Given the description of an element on the screen output the (x, y) to click on. 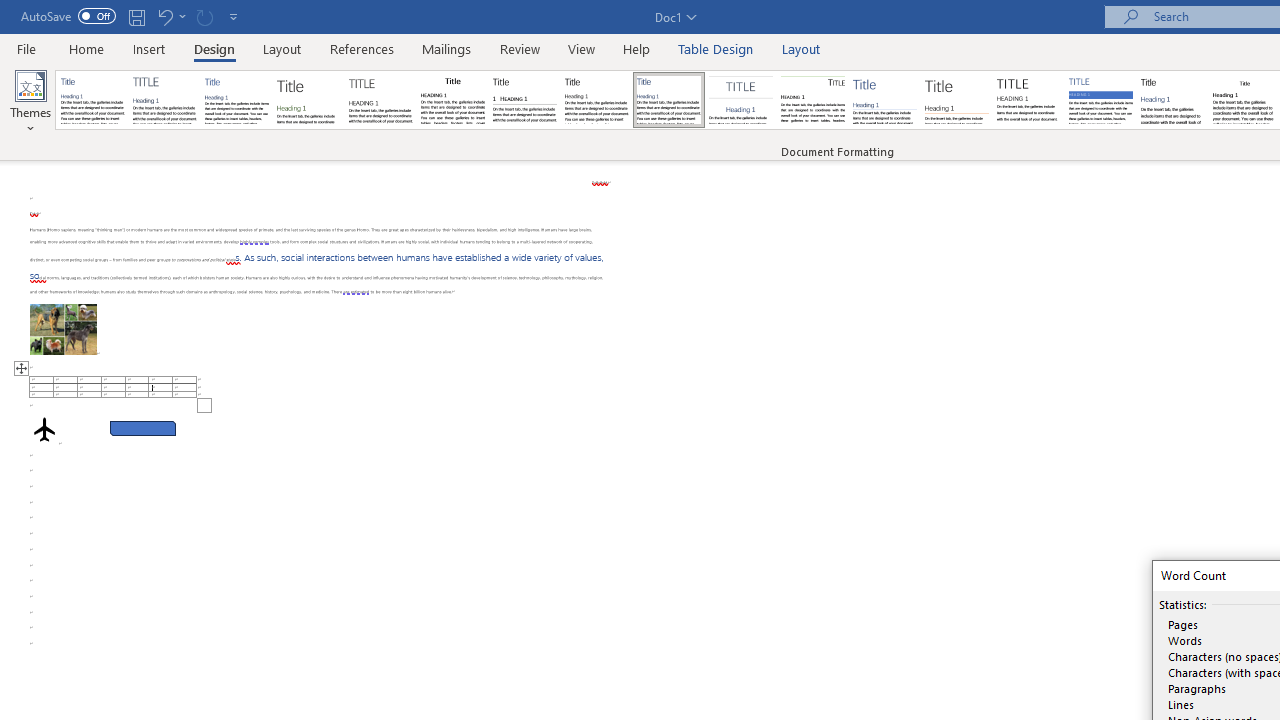
Undo Apply Quick Style Set (170, 15)
Themes (30, 102)
Undo Apply Quick Style Set (164, 15)
Lines (Simple) (884, 100)
Review (520, 48)
Shaded (1100, 100)
System (10, 11)
Centered (740, 100)
Rectangle: Diagonal Corners Snipped 2 (143, 428)
Basic (Stylish) (308, 100)
Black & White (Word 2013) (596, 100)
Casual (669, 100)
Black & White (Numbered) (524, 100)
